Given the description of an element on the screen output the (x, y) to click on. 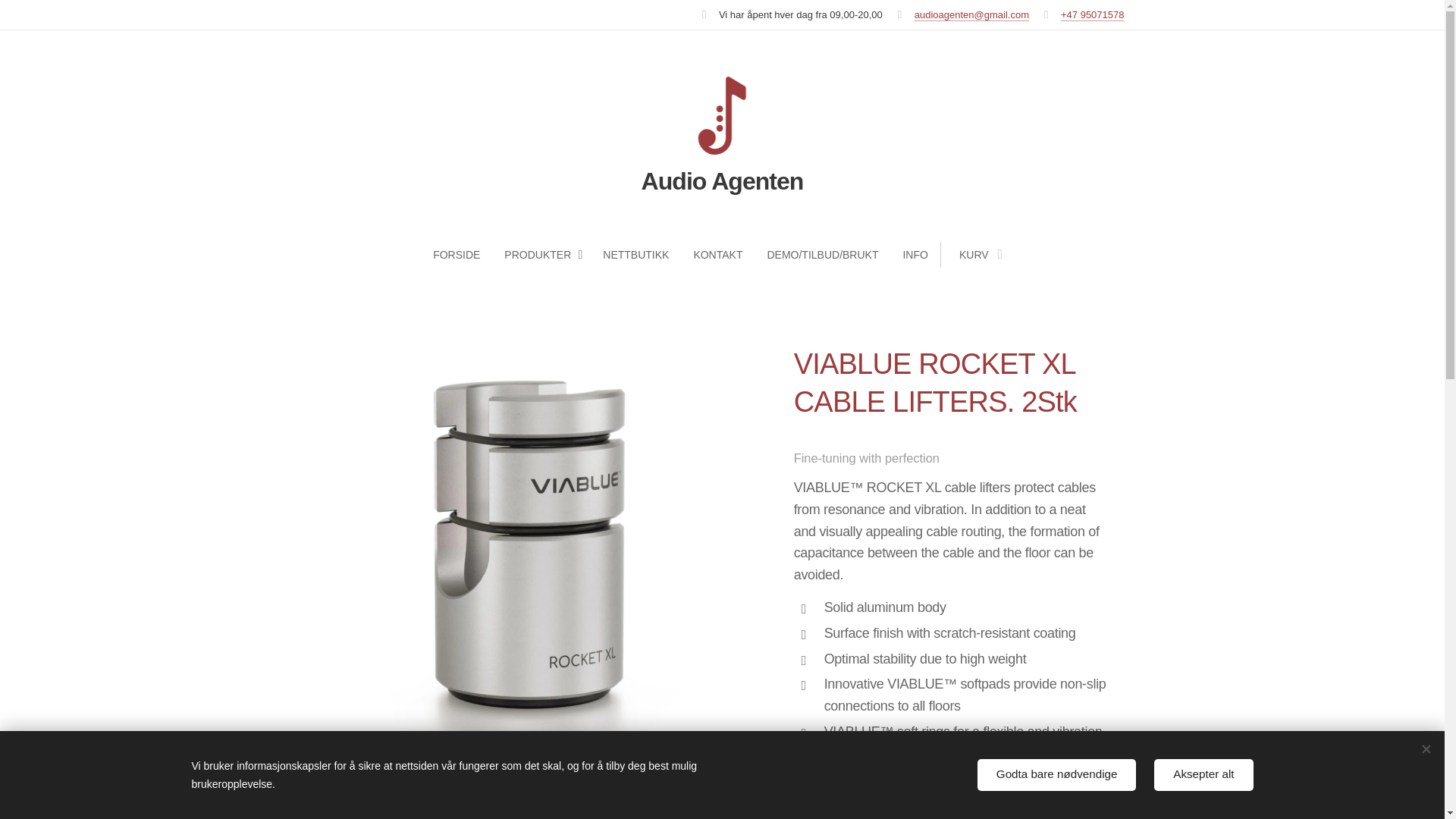
KONTAKT (717, 254)
INFO (914, 254)
PRODUKTER (541, 254)
Audio Agenten (722, 138)
NETTBUTIKK (636, 254)
FORSIDE (462, 254)
KURV (975, 254)
